Given the description of an element on the screen output the (x, y) to click on. 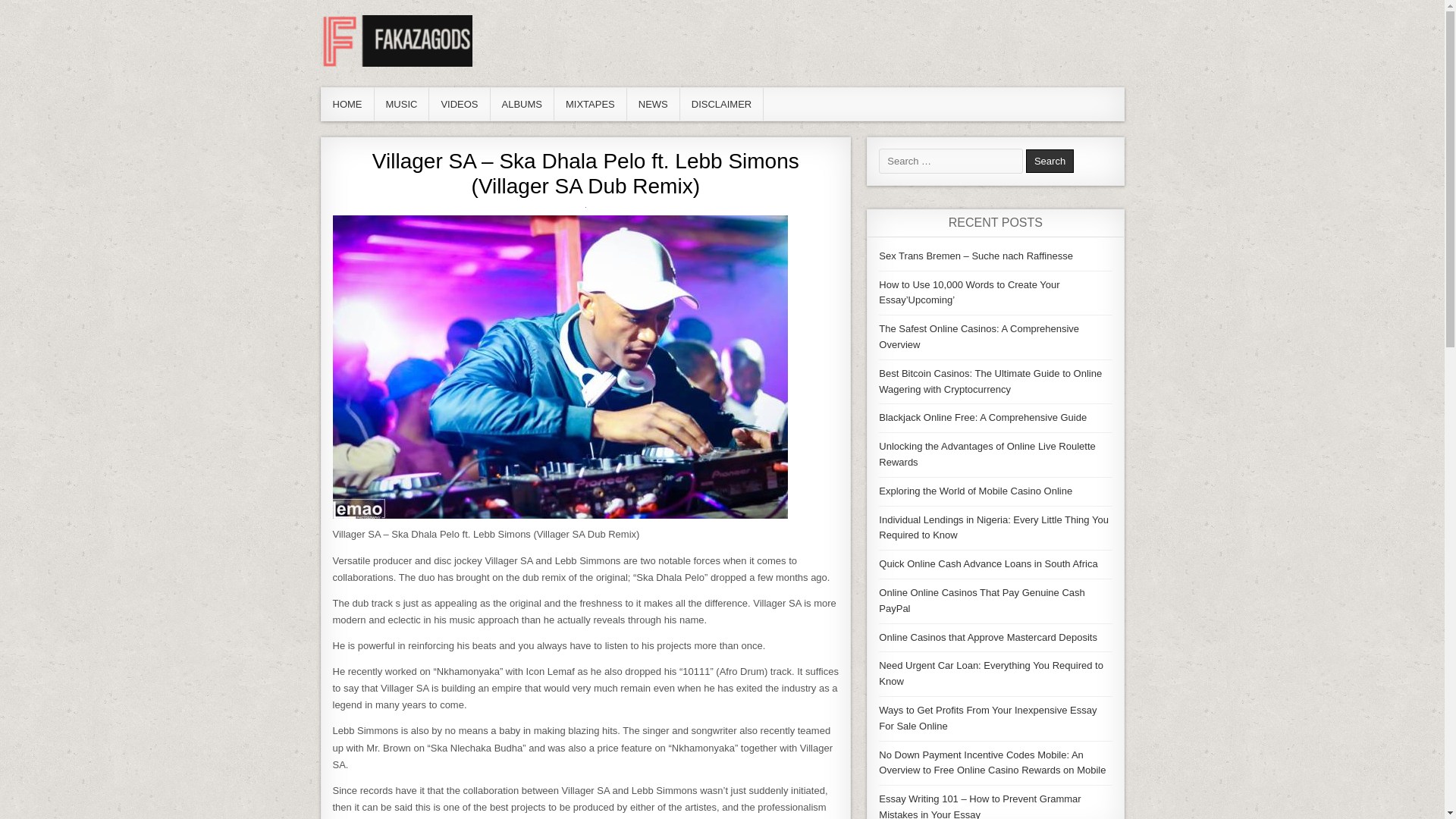
NEWS (653, 103)
Exploring the World of Mobile Casino Online (975, 490)
Quick Online Cash Advance Loans in South Africa (988, 563)
Search (1050, 160)
Search (1050, 160)
Blackjack Online Free: A Comprehensive Guide (982, 417)
MUSIC (401, 103)
VIDEOS (459, 103)
Unlocking the Advantages of Online Live Roulette Rewards (986, 453)
DISCLAIMER (720, 103)
